Given the description of an element on the screen output the (x, y) to click on. 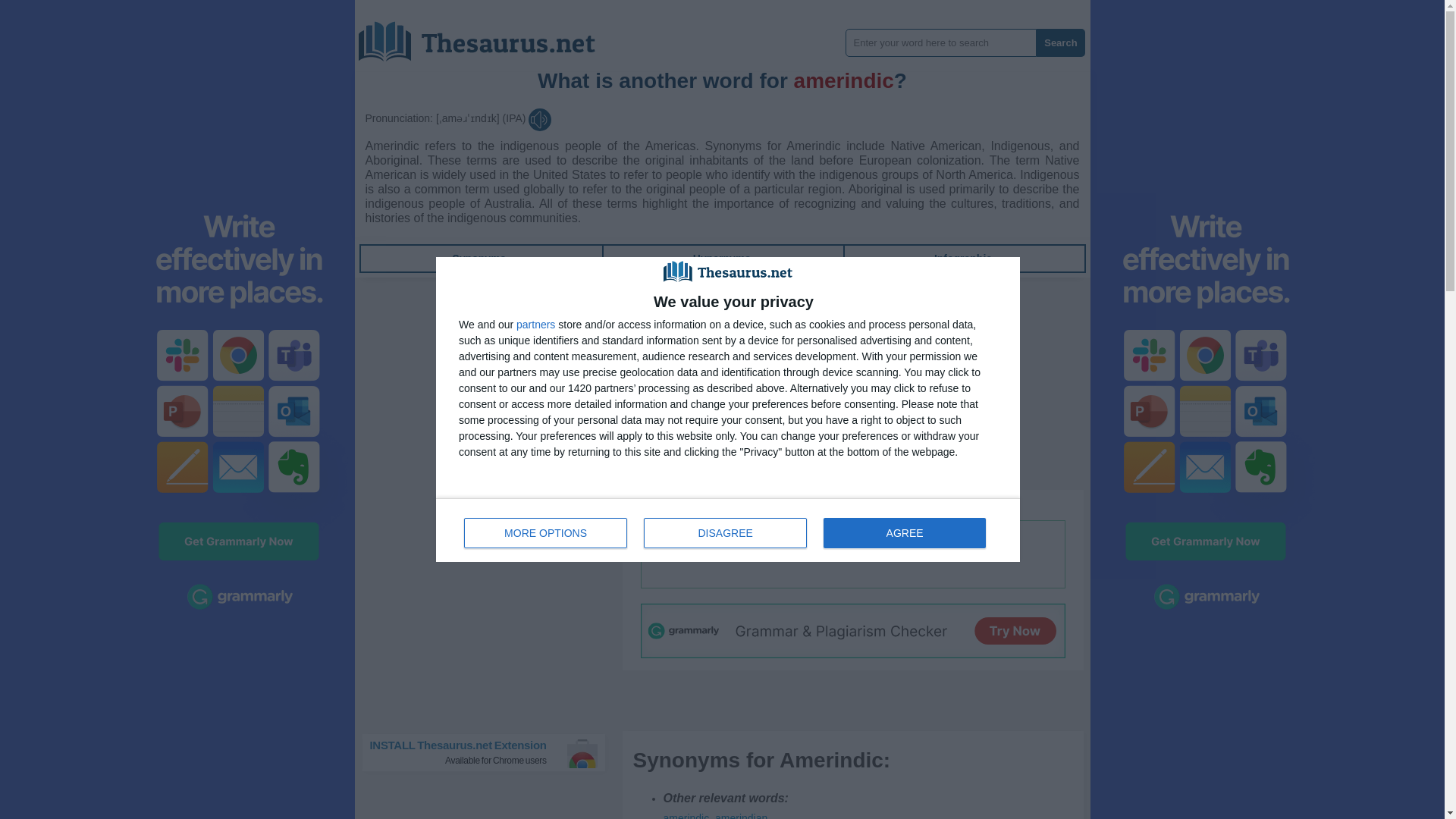
AGREE (904, 532)
DISAGREE (727, 529)
Hypernyms (724, 532)
Hypernyms (722, 258)
Synonyms for Amerindic (722, 258)
amerindian (685, 815)
Search (740, 815)
Synonyms for Amerindic (1060, 42)
amerindic (740, 815)
